Given the description of an element on the screen output the (x, y) to click on. 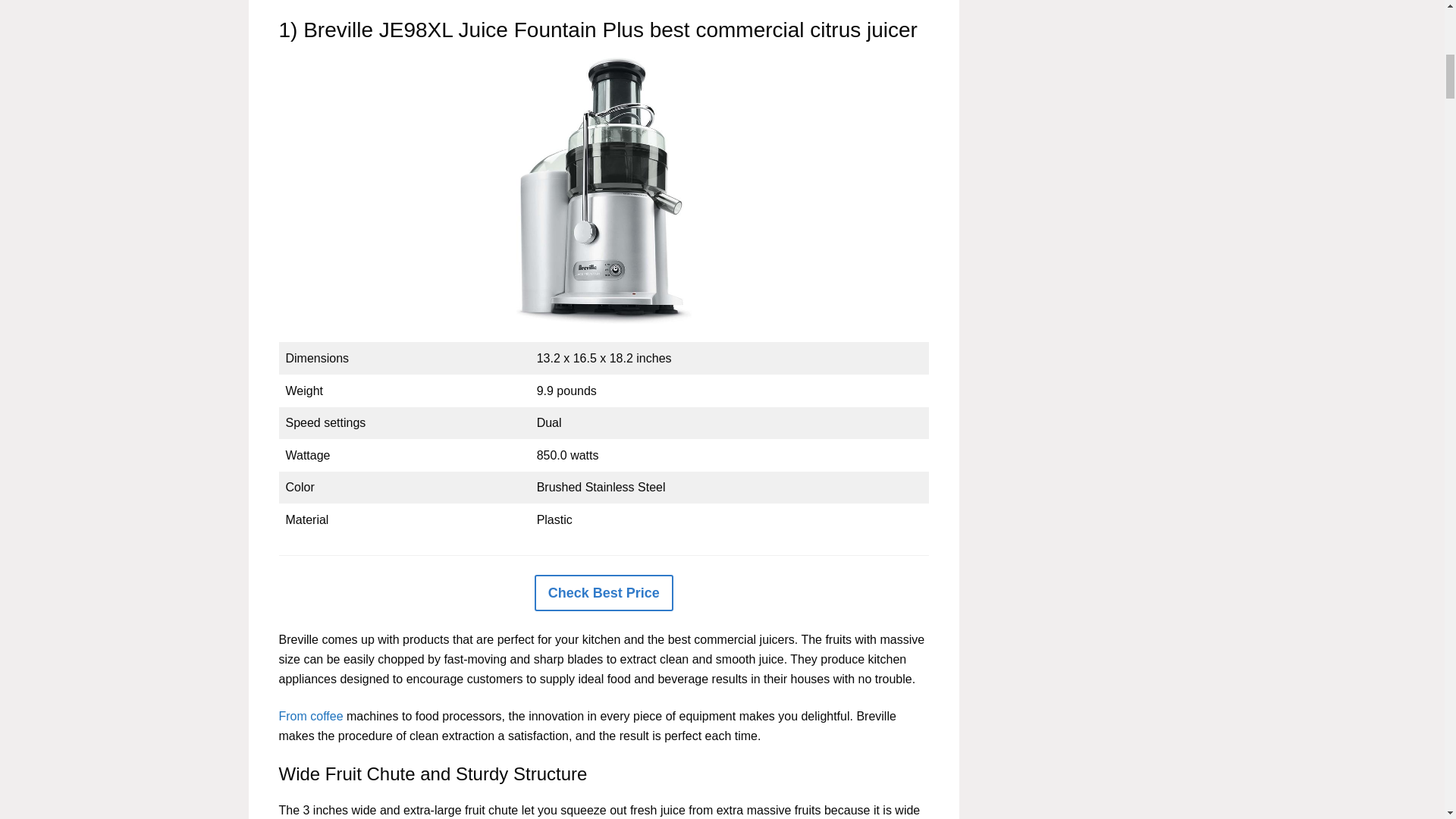
From coffee (311, 716)
Check Best Price (603, 592)
